Given the description of an element on the screen output the (x, y) to click on. 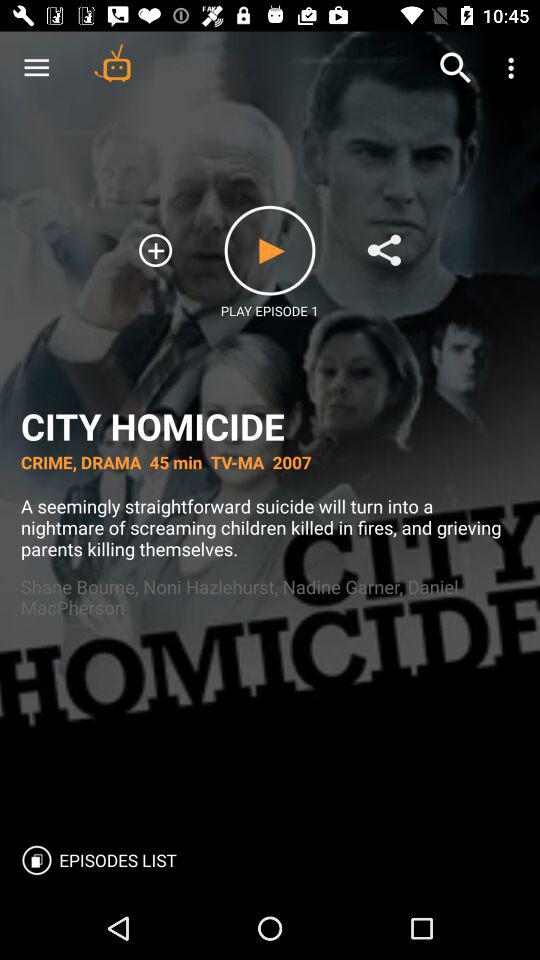
play video (269, 250)
